Given the description of an element on the screen output the (x, y) to click on. 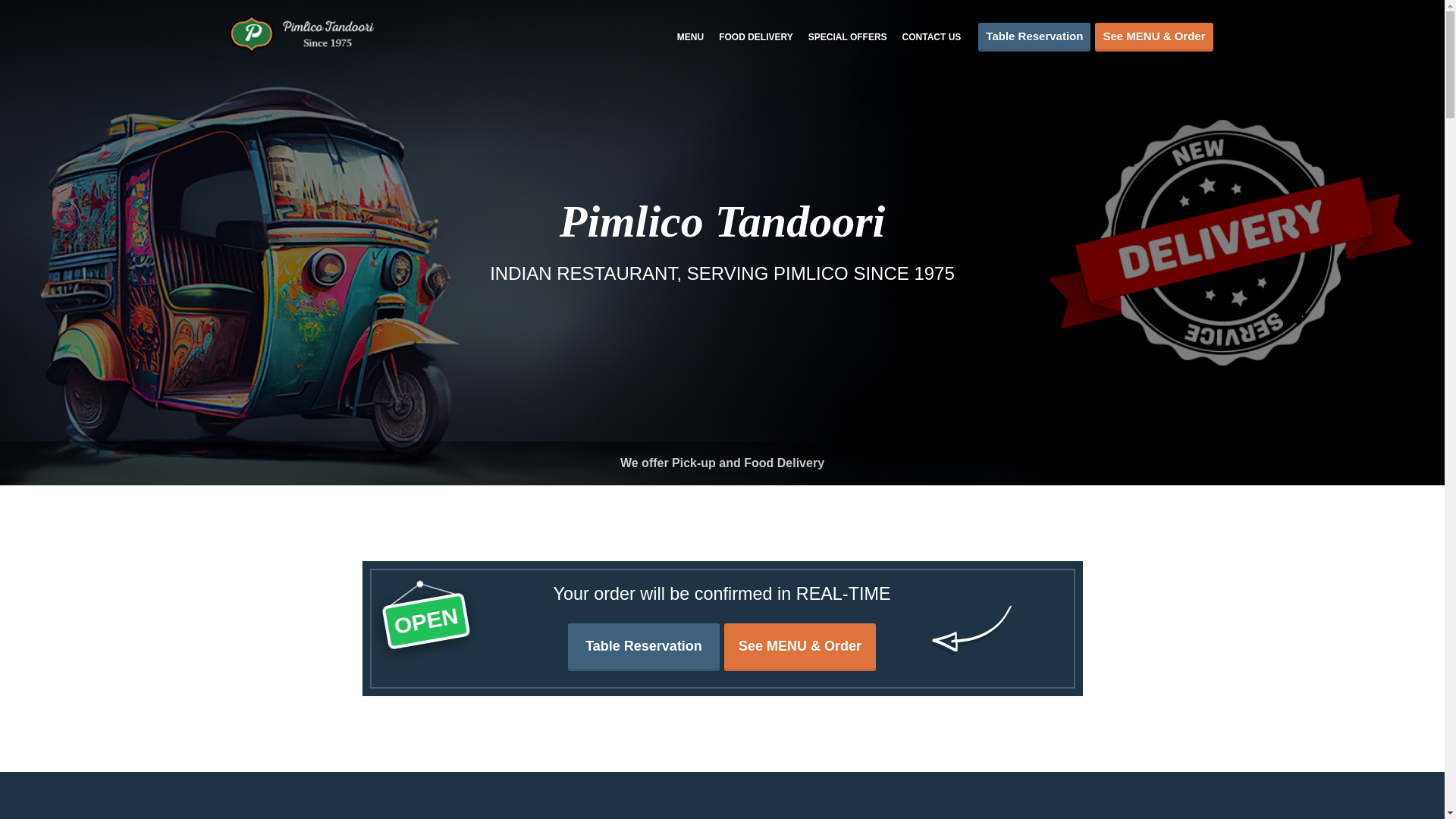
FOOD DELIVERY (756, 36)
MENU (690, 36)
CONTACT US (931, 36)
SPECIAL OFFERS (847, 36)
